Given the description of an element on the screen output the (x, y) to click on. 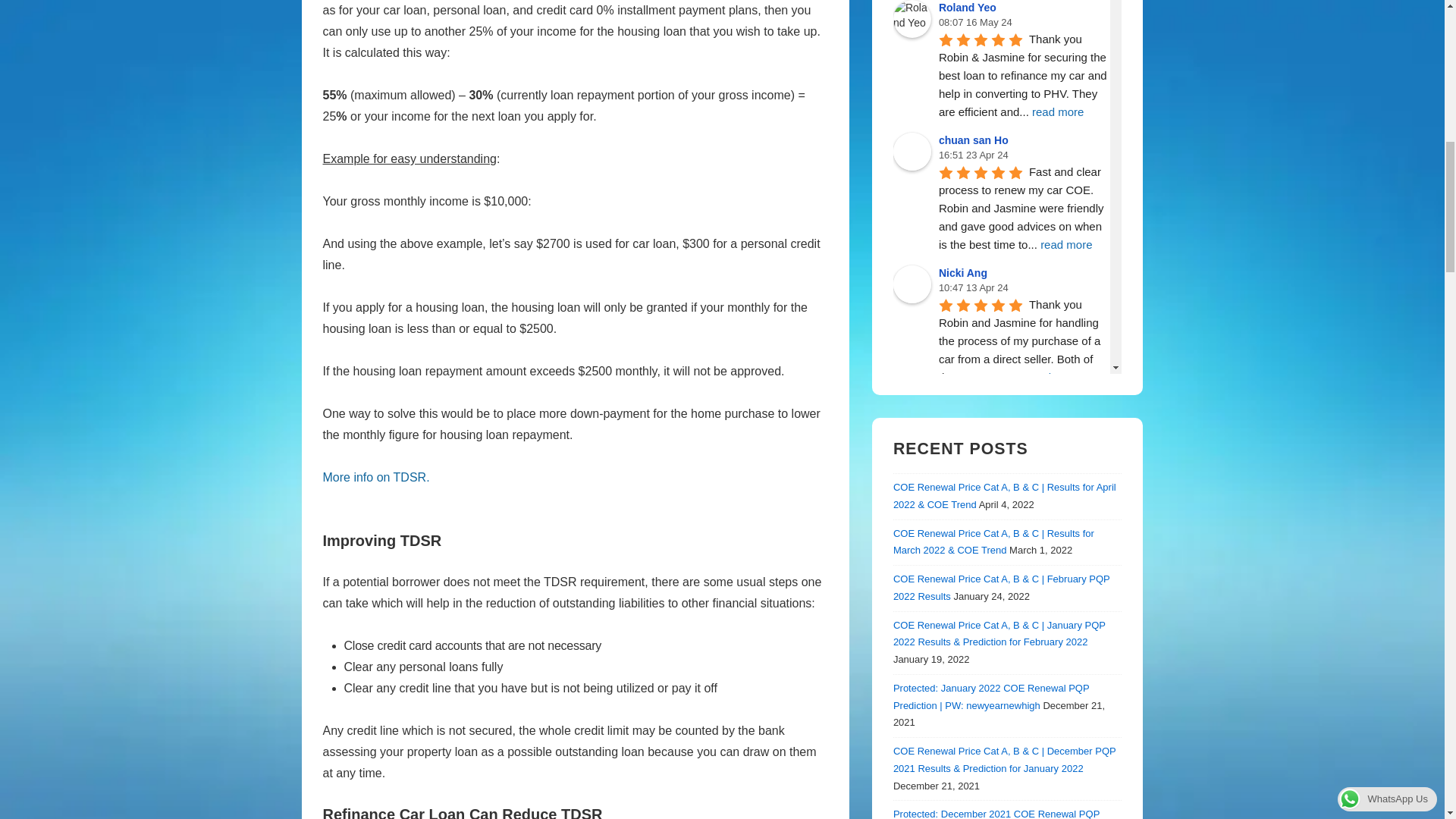
Nicki Ang (912, 284)
More info on TDSR. (376, 477)
Roland Yeo (912, 18)
chuan san Ho (912, 151)
Nur Azhar (912, 416)
